Given the description of an element on the screen output the (x, y) to click on. 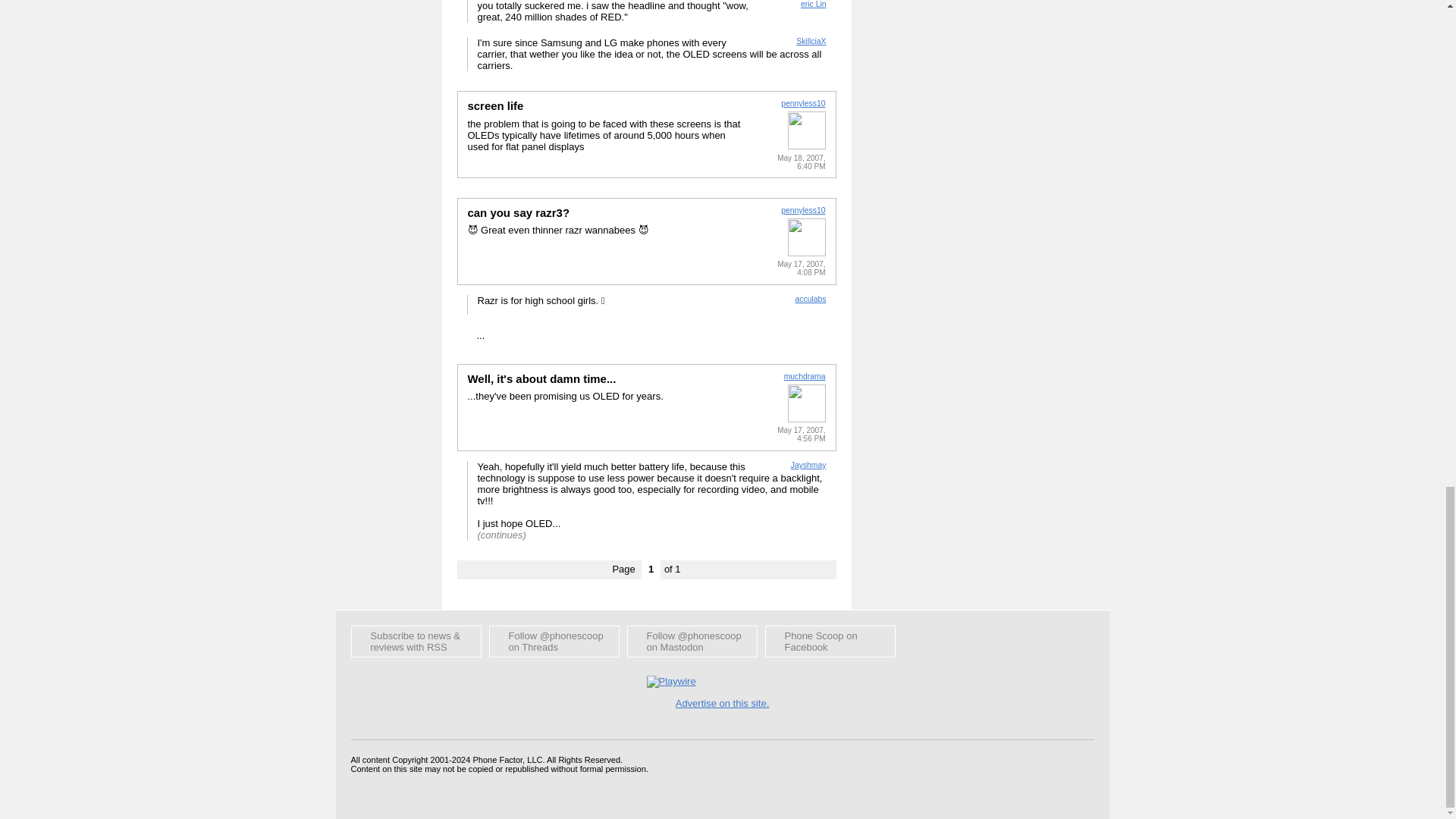
eric Lin (813, 4)
acculabs (809, 298)
Jayshmay (808, 465)
pennyless10 (802, 210)
Phone Scoop - Latest News (415, 641)
pennyless10 (802, 103)
SkillciaX (810, 40)
muchdrama (804, 376)
